Given the description of an element on the screen output the (x, y) to click on. 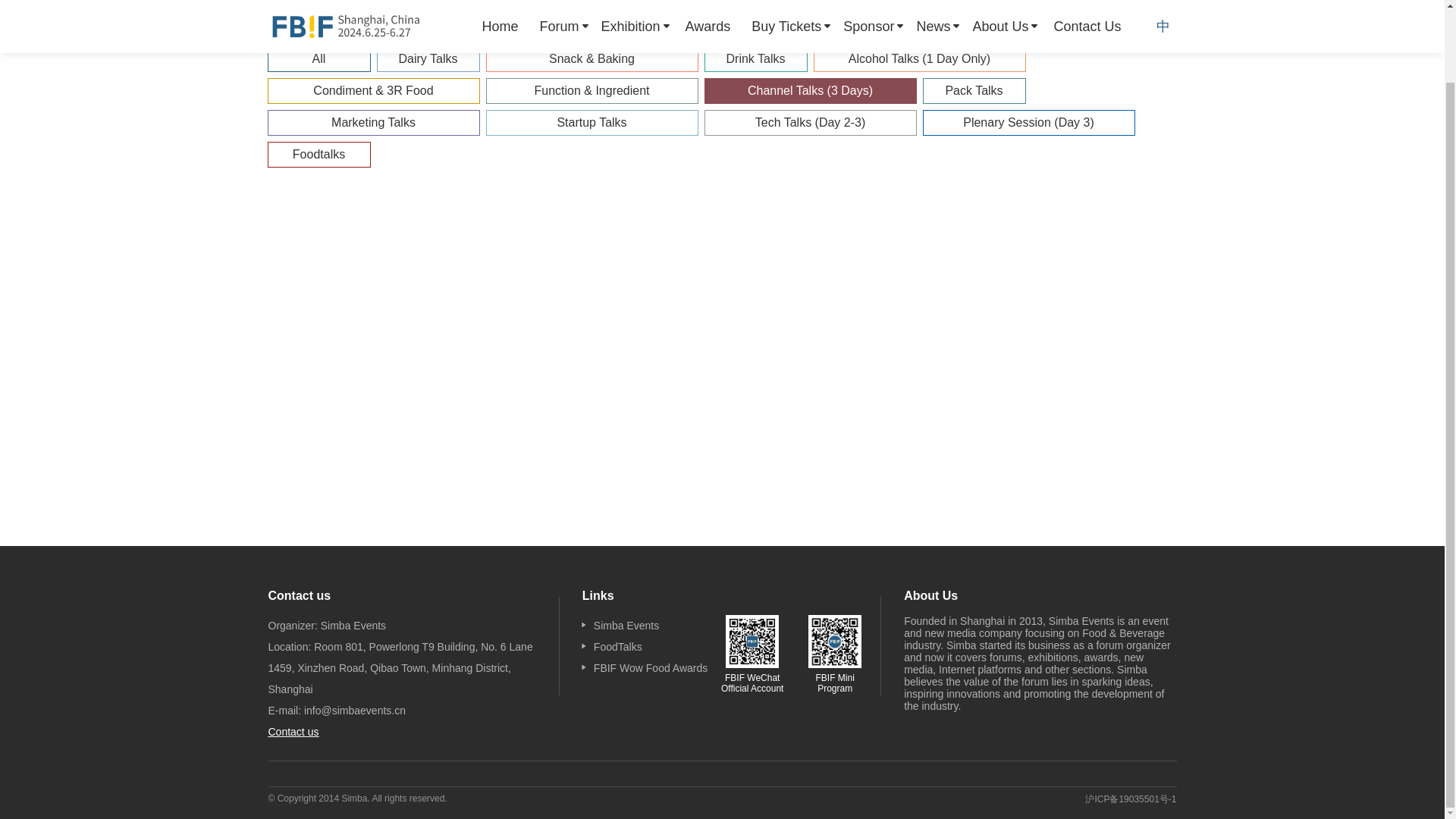
Contact us (292, 731)
FBIF Wow Food Awards (650, 667)
Simba Events (626, 625)
FoodTalks (618, 646)
